Given the description of an element on the screen output the (x, y) to click on. 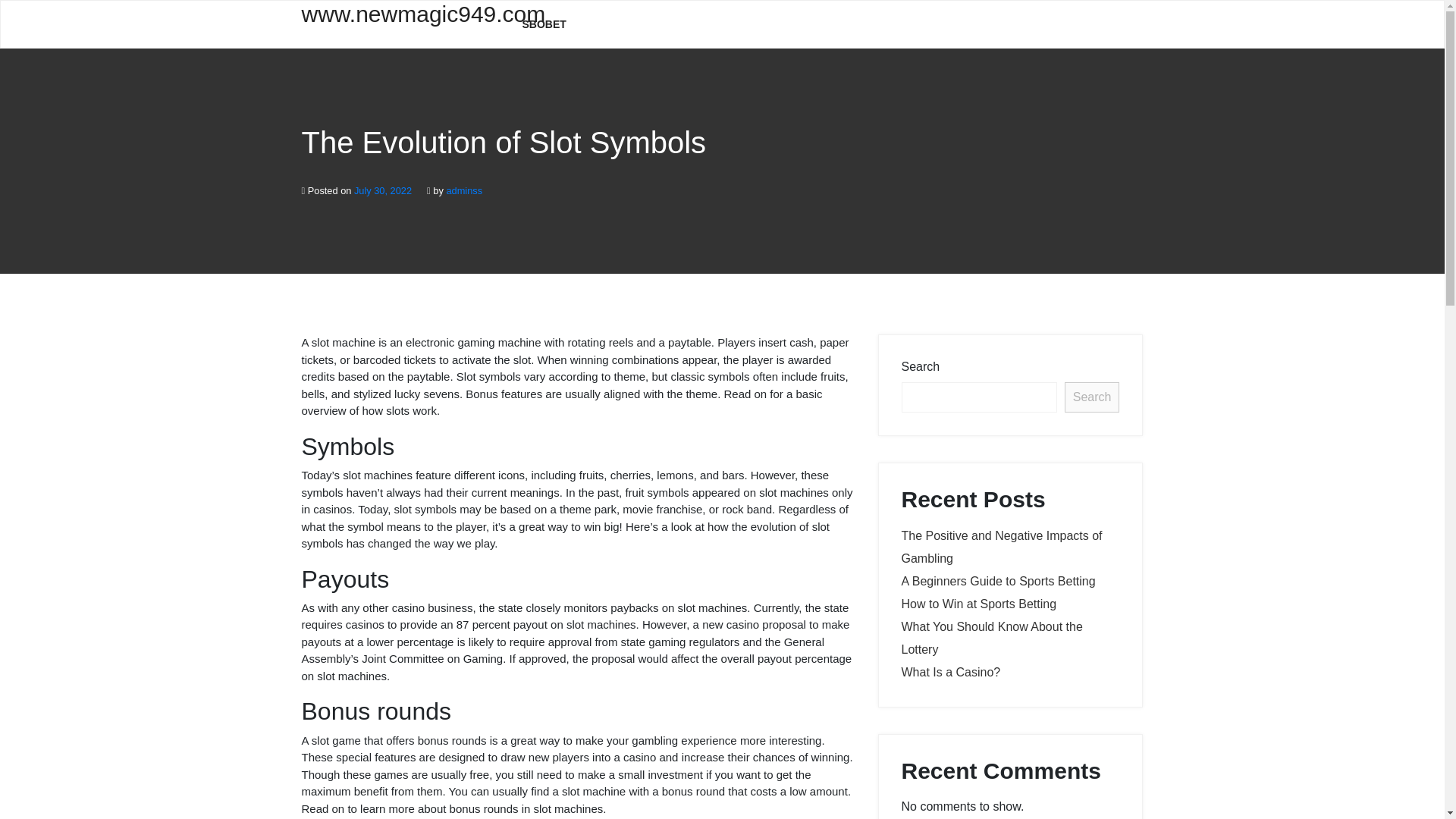
SBOBET (543, 23)
Search (1091, 397)
July 30, 2022 (382, 190)
The Positive and Negative Impacts of Gambling (1001, 547)
What Is a Casino? (950, 671)
adminss (463, 190)
What You Should Know About the Lottery (991, 637)
SBOBET (543, 23)
How to Win at Sports Betting (979, 603)
www.newmagic949.com (400, 22)
A Beginners Guide to Sports Betting (997, 581)
